Given the description of an element on the screen output the (x, y) to click on. 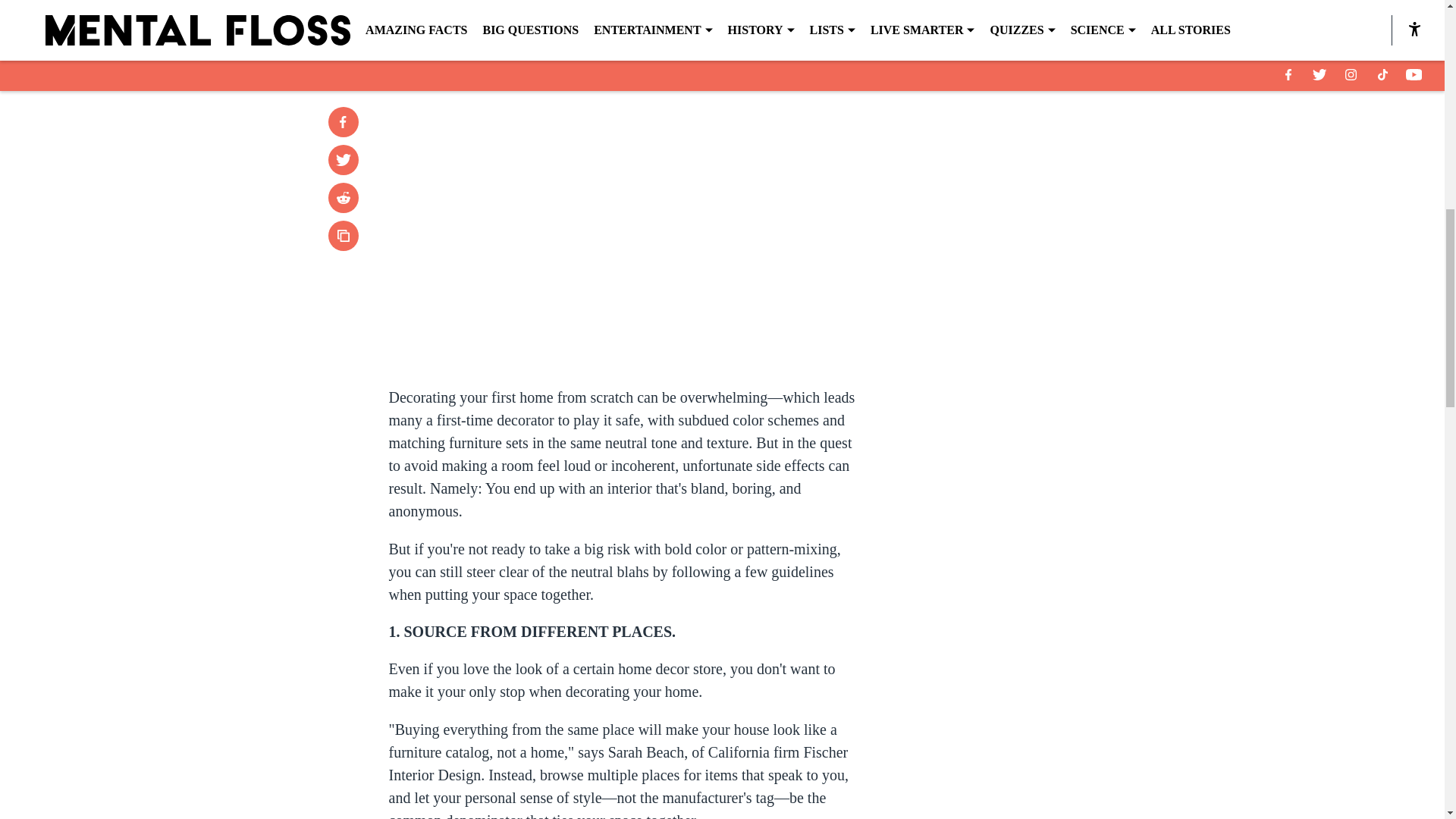
iStock (721, 22)
